Given the description of an element on the screen output the (x, y) to click on. 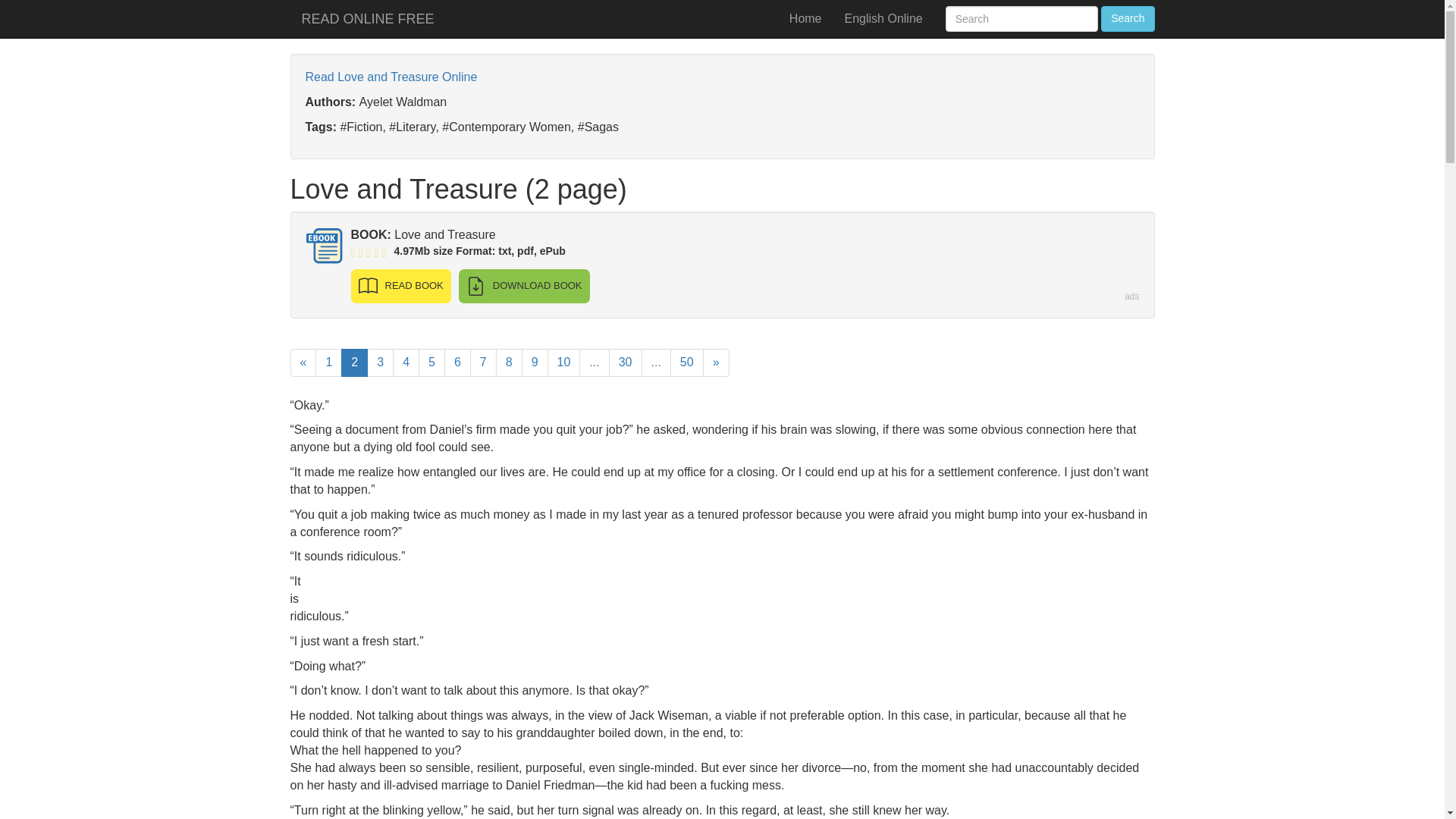
3 (379, 362)
7 (483, 362)
50 (686, 362)
DOWNLOAD BOOK (523, 286)
8 (509, 362)
Search (1127, 18)
Read Love and Treasure Online (390, 76)
9 (534, 362)
2 (354, 362)
READ ONLINE FREE (367, 18)
4 (406, 362)
1 (328, 362)
5 (432, 362)
10 (563, 362)
30 (625, 362)
